Given the description of an element on the screen output the (x, y) to click on. 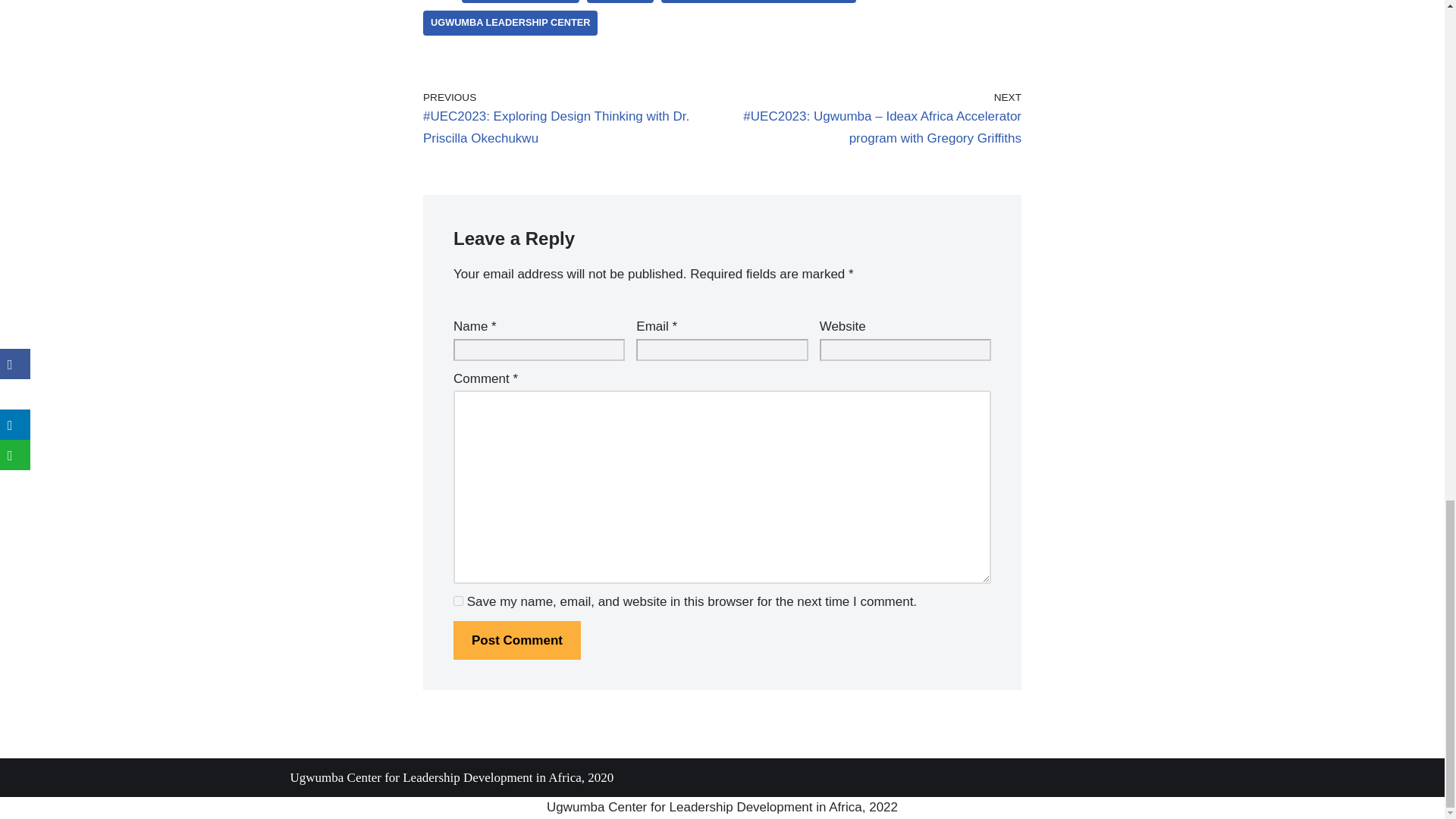
Ugwumba Enterprise Challenge (758, 1)
Post Comment (516, 640)
STARTUPS (619, 1)
ENTREPRENEURSHIP (520, 1)
Entrepreneurship (520, 1)
UGWUMBA LEADERSHIP CENTER (509, 23)
UGWUMBA ENTERPRISE CHALLENGE (758, 1)
startups (619, 1)
Ugwumba Leadership Center (509, 23)
yes (457, 601)
